Given the description of an element on the screen output the (x, y) to click on. 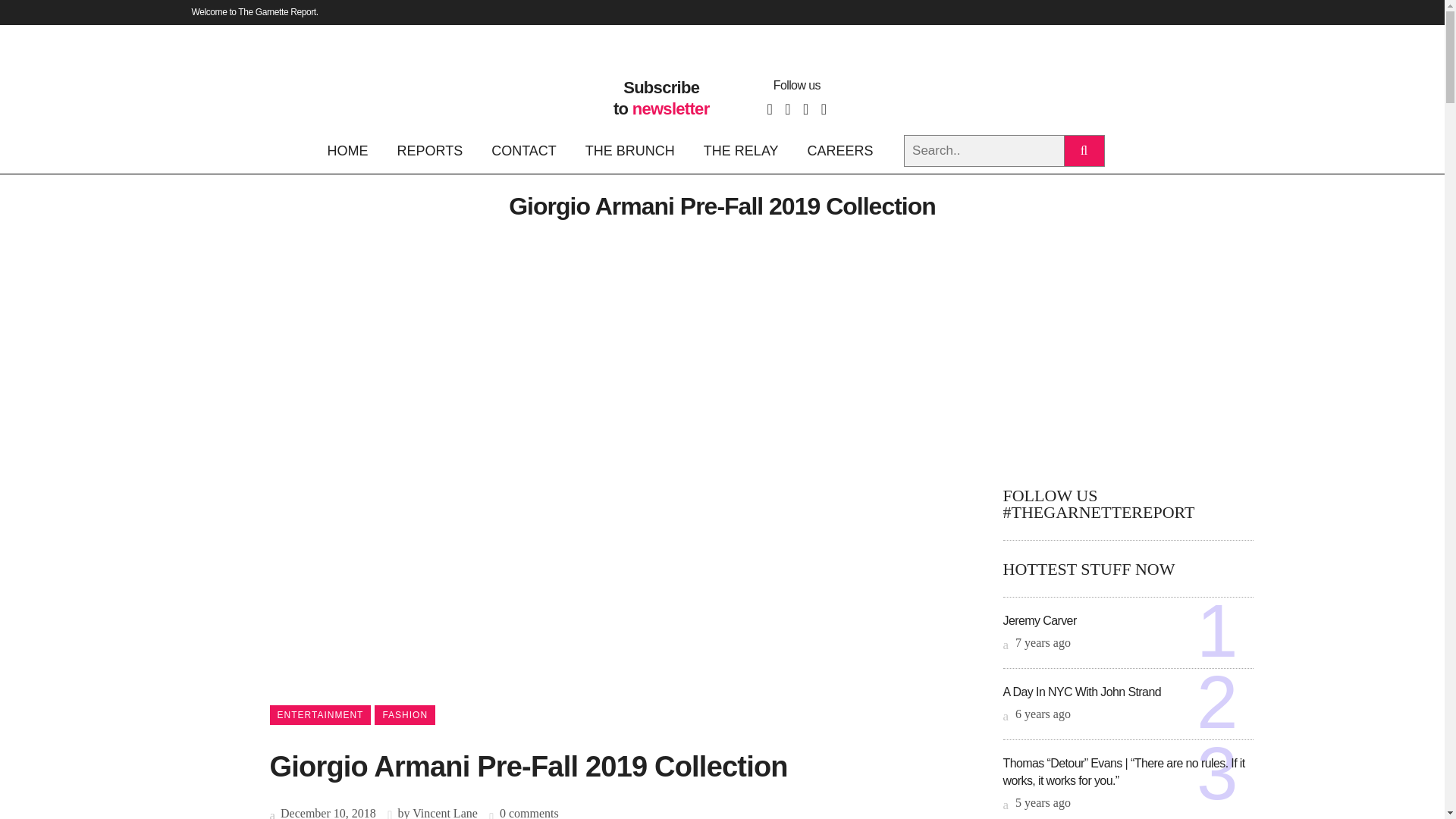
CONTACT (523, 150)
REPORTS (429, 150)
Jeremy Carver (1039, 620)
THE RELAY (740, 150)
HOME (353, 150)
THE BRUNCH (629, 150)
Advertisement (1127, 355)
CAREERS (840, 150)
